Given the description of an element on the screen output the (x, y) to click on. 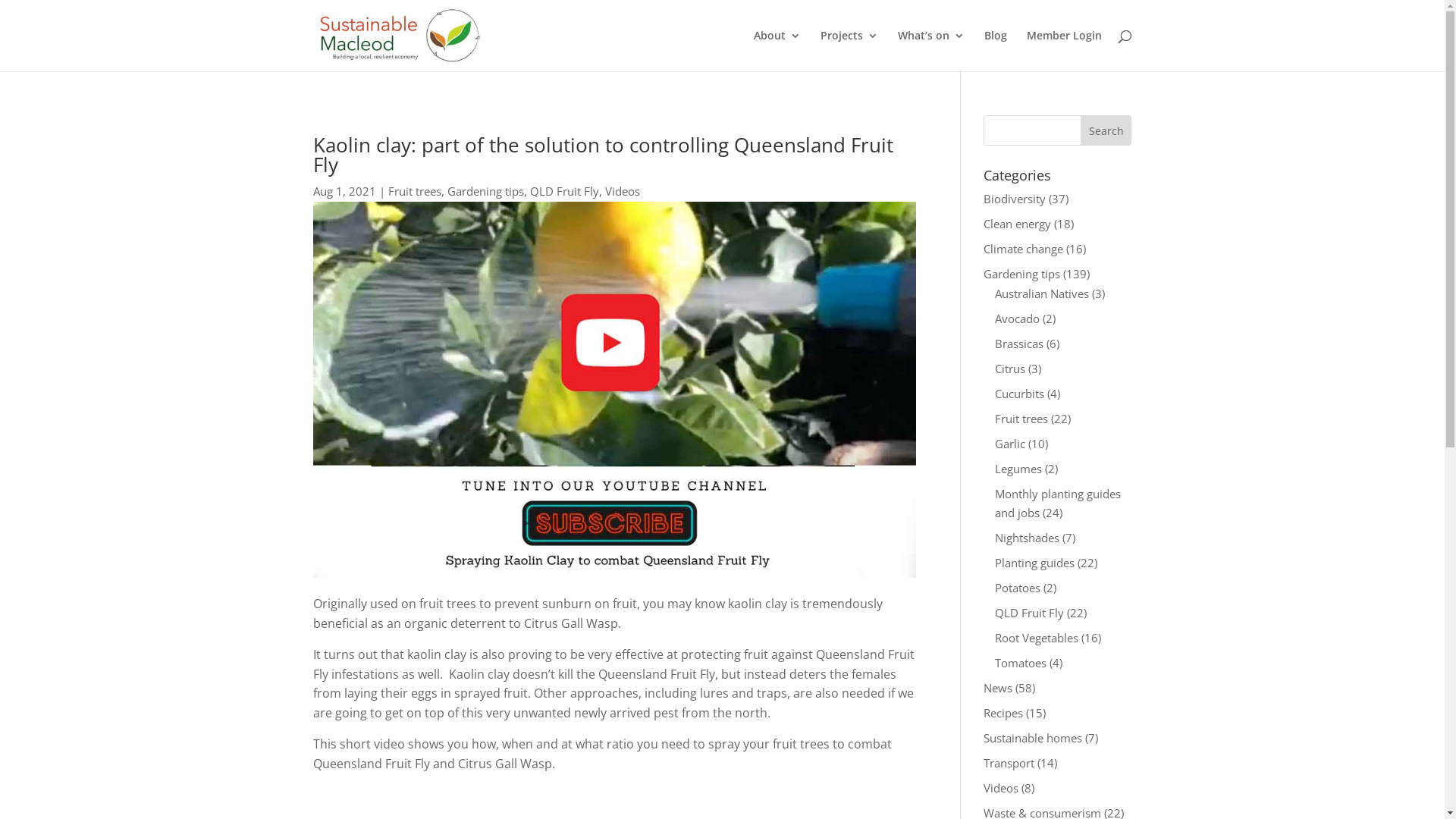
Projects Element type: text (849, 50)
Avocado Element type: text (1016, 318)
Planting guides Element type: text (1034, 562)
Member Login Element type: text (1063, 50)
Citrus Element type: text (1009, 368)
Gardening tips Element type: text (485, 190)
Brassicas Element type: text (1018, 342)
About Element type: text (776, 50)
Monthly planting guides and jobs Element type: text (1057, 502)
QLD Fruit Fly Element type: text (1028, 612)
Potatoes Element type: text (1017, 587)
Tomatoes Element type: text (1020, 662)
QLD Fruit Fly Element type: text (563, 190)
Videos Element type: text (622, 190)
Search Element type: text (1106, 130)
Sustainable homes Element type: text (1032, 737)
Videos Element type: text (1000, 787)
News Element type: text (997, 687)
Clean energy Element type: text (1017, 223)
Fruit trees Element type: text (1021, 418)
Gardening tips Element type: text (1021, 273)
Root Vegetables Element type: text (1036, 637)
Transport Element type: text (1008, 762)
Recipes Element type: text (1002, 712)
Biodiversity Element type: text (1014, 198)
Blog Element type: text (995, 50)
Fruit trees Element type: text (414, 190)
Garlic Element type: text (1009, 442)
Cucurbits Element type: text (1019, 392)
kaolin-clay-video-blog-post Element type: hover (613, 389)
Legumes Element type: text (1017, 468)
Australian Natives Element type: text (1041, 292)
Nightshades Element type: text (1026, 537)
Climate change Element type: text (1023, 248)
